Given the description of an element on the screen output the (x, y) to click on. 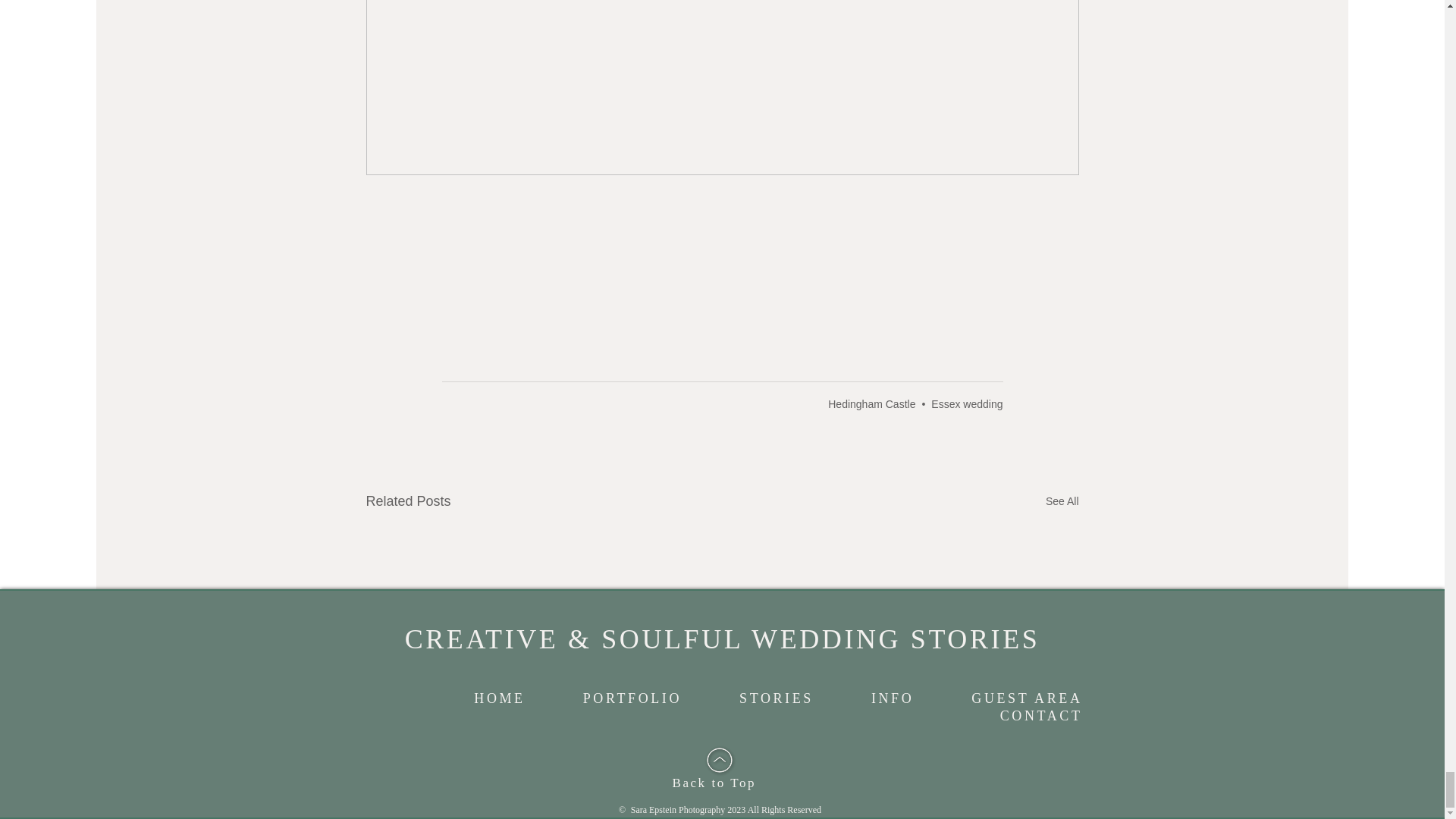
HOME (499, 698)
GUEST AREA (1026, 698)
CONTACT (1041, 715)
Hedingham Castle (871, 404)
Essex wedding (967, 404)
See All (1061, 501)
PORTFOLIO (632, 698)
